Given the description of an element on the screen output the (x, y) to click on. 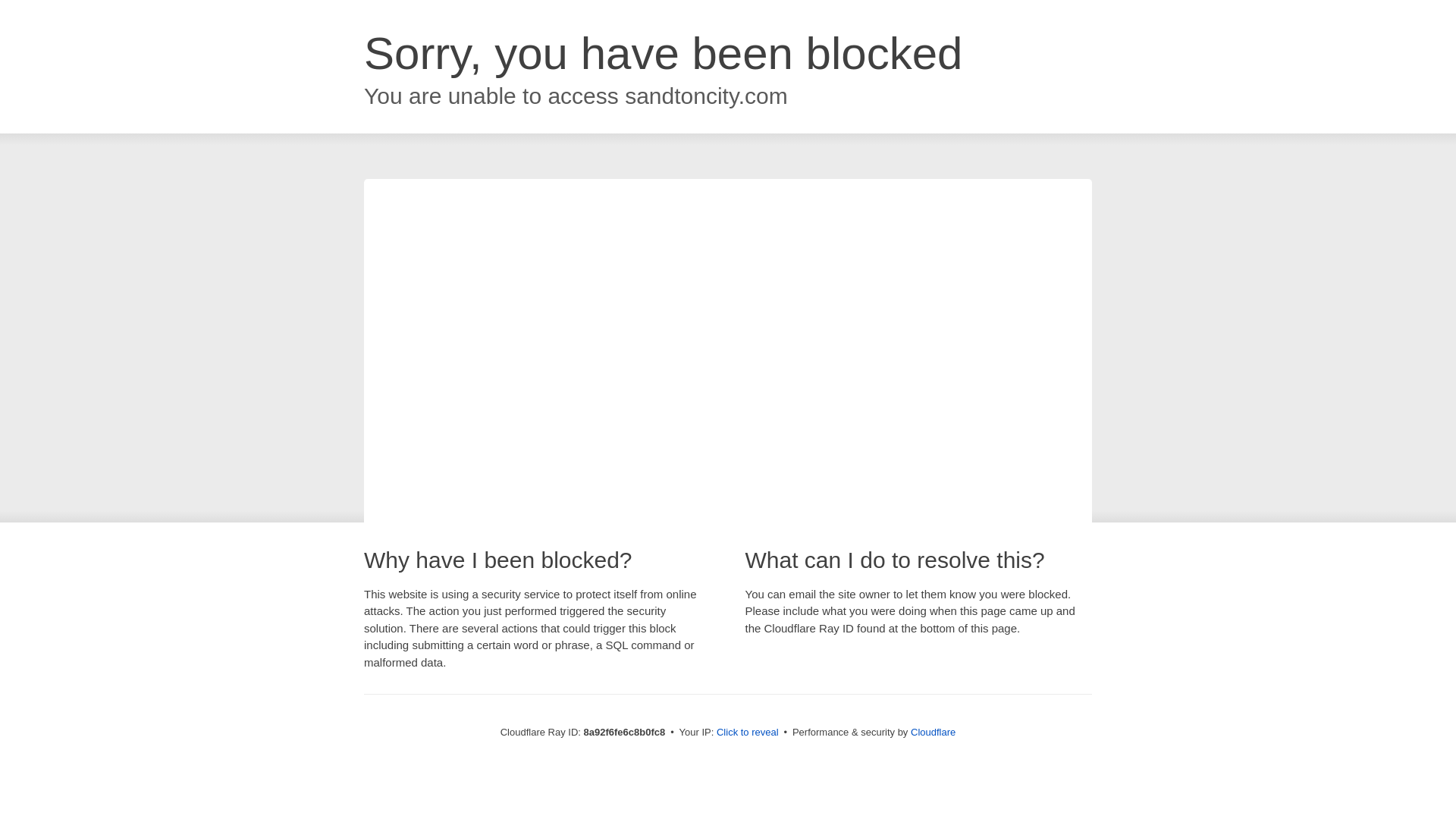
Cloudflare (933, 731)
Click to reveal (747, 732)
